Given the description of an element on the screen output the (x, y) to click on. 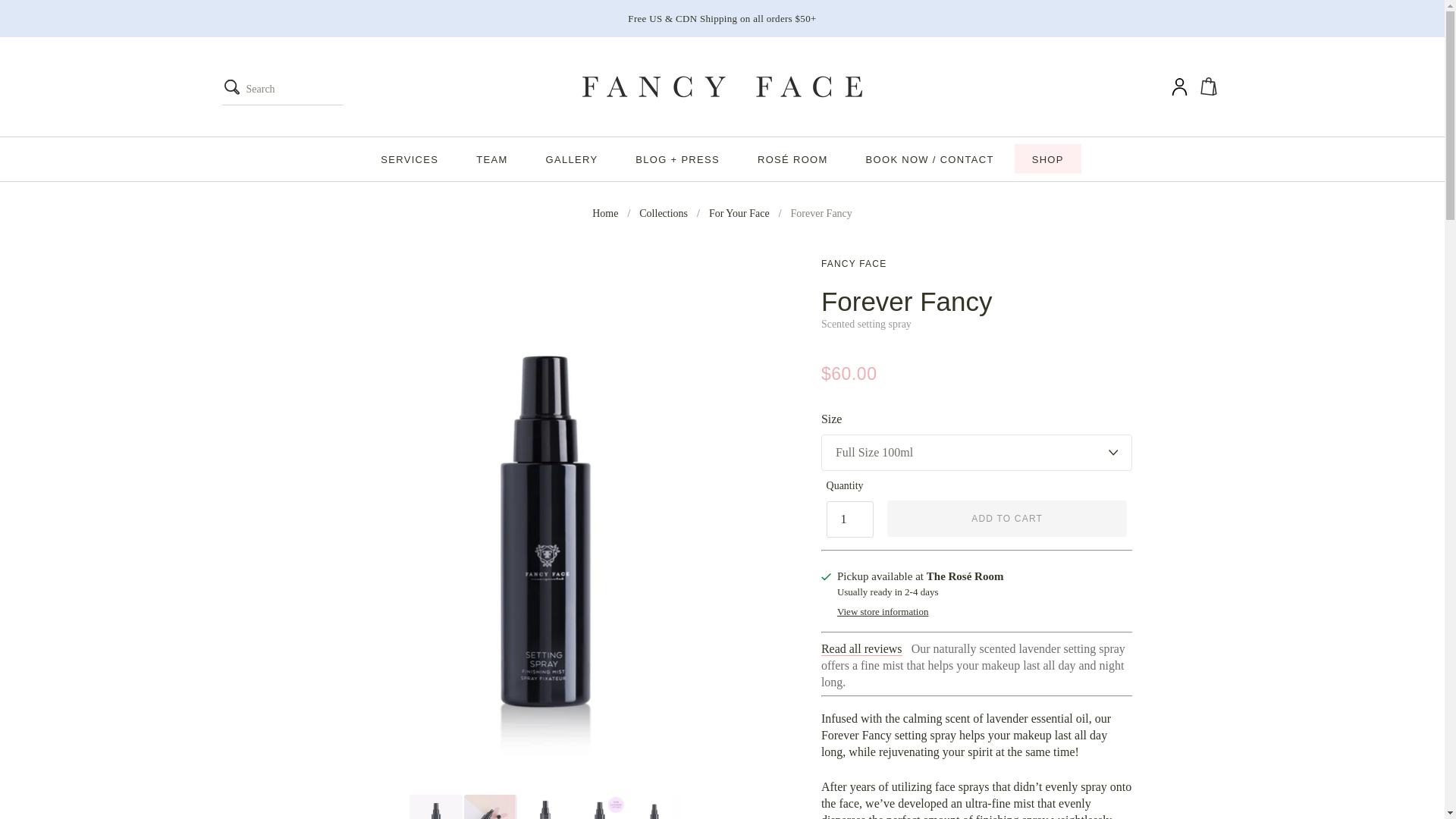
TEAM (491, 158)
GALLERY (572, 158)
SHOP (1048, 158)
Cart (1210, 86)
Fancy Face (853, 263)
SERVICES (409, 158)
1 (850, 518)
Login (1178, 86)
